Given the description of an element on the screen output the (x, y) to click on. 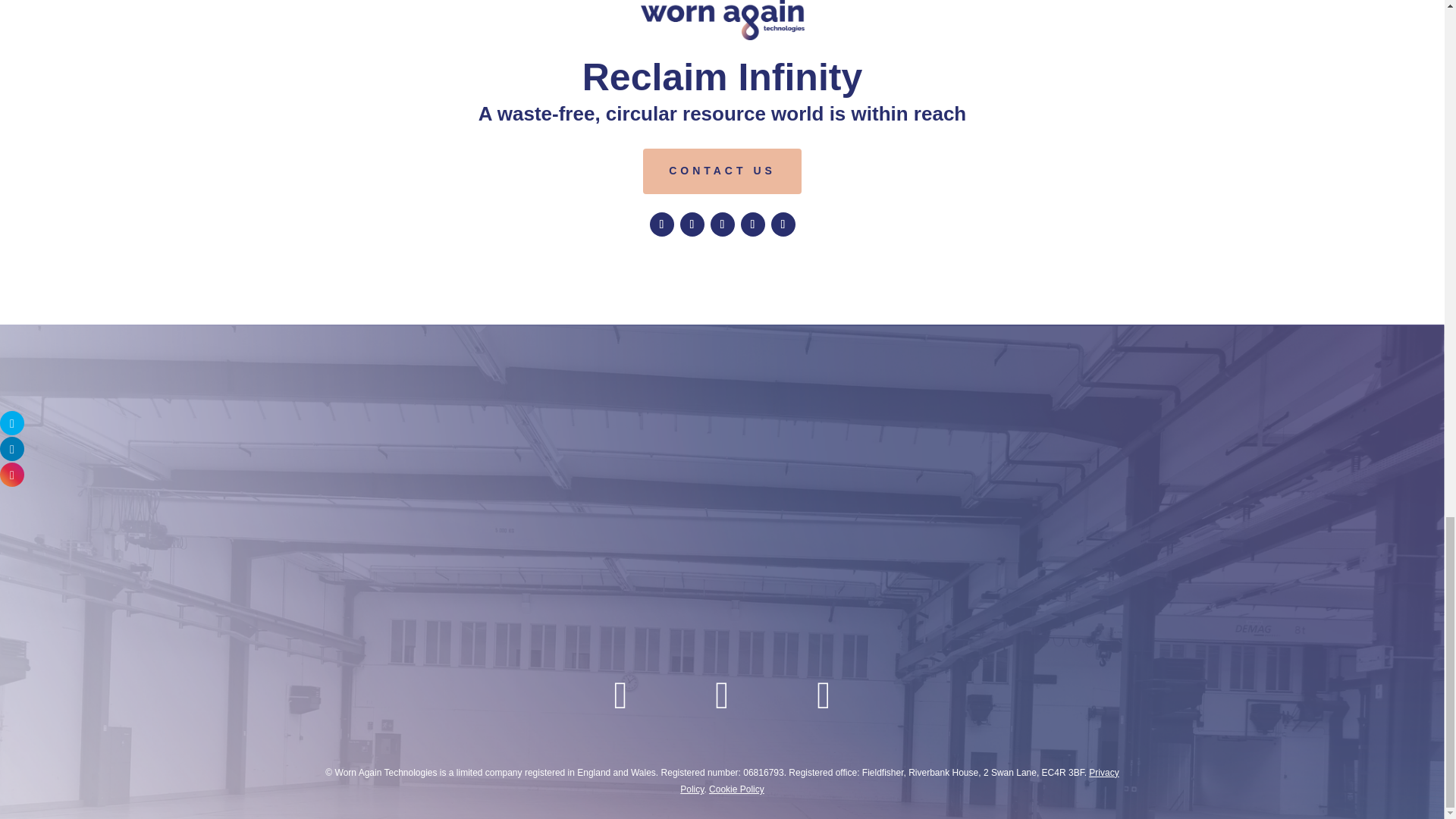
CONTACT US (722, 171)
Follow on X (691, 224)
Cookie Policy (736, 788)
Follow on Facebook (660, 224)
Follow on Instagram (751, 224)
Follow on LinkedIn (721, 224)
Privacy Policy (898, 780)
Follow on Youtube (782, 224)
